Given the description of an element on the screen output the (x, y) to click on. 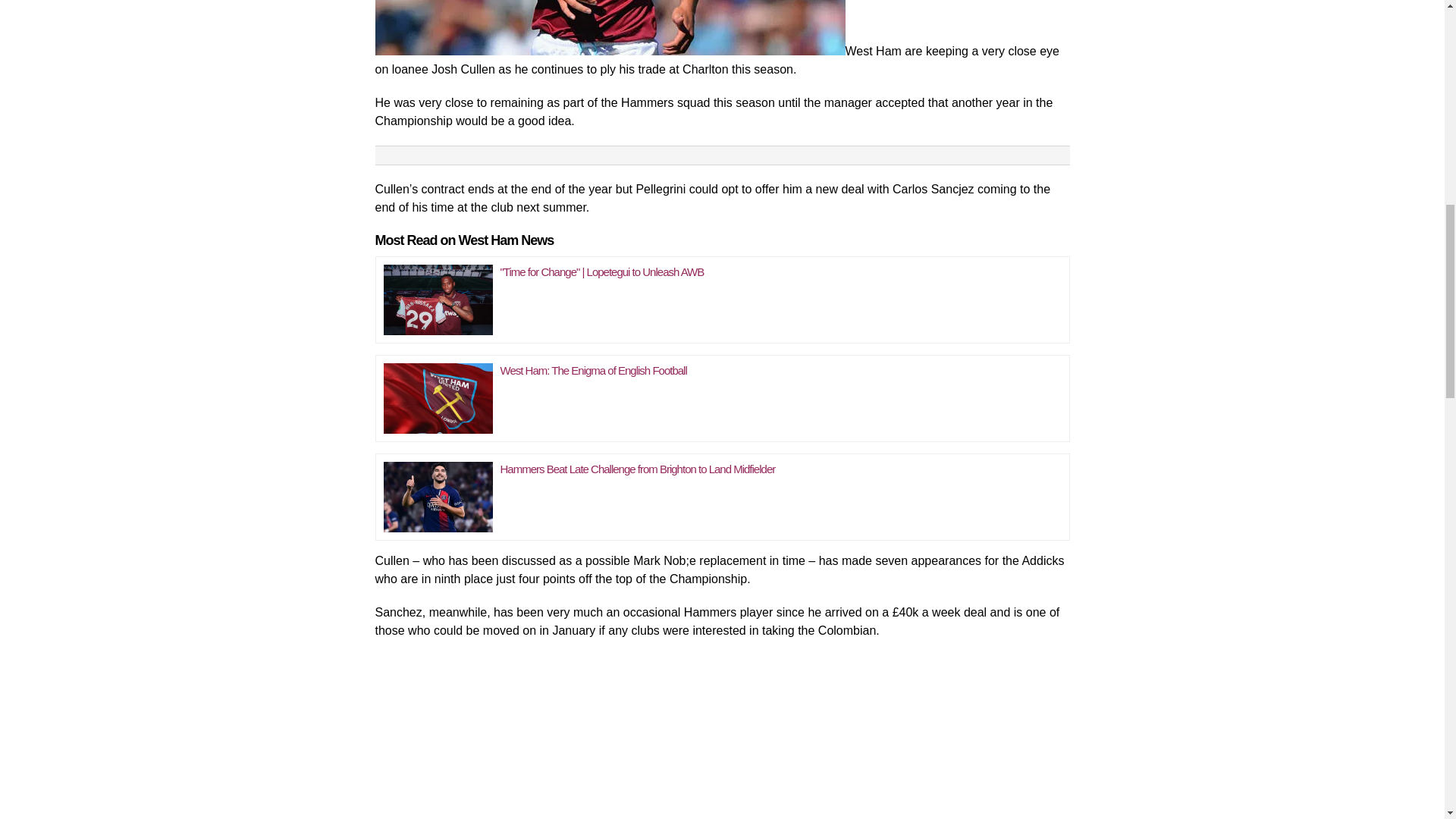
Hammers Beat Late Challenge from Brighton to Land Midfielder (437, 493)
Hammers Beat Late Challenge from Brighton to Land Midfielder (638, 468)
West Ham: The Enigma of English Football (593, 369)
West Ham: The Enigma of English Football (437, 394)
